Given the description of an element on the screen output the (x, y) to click on. 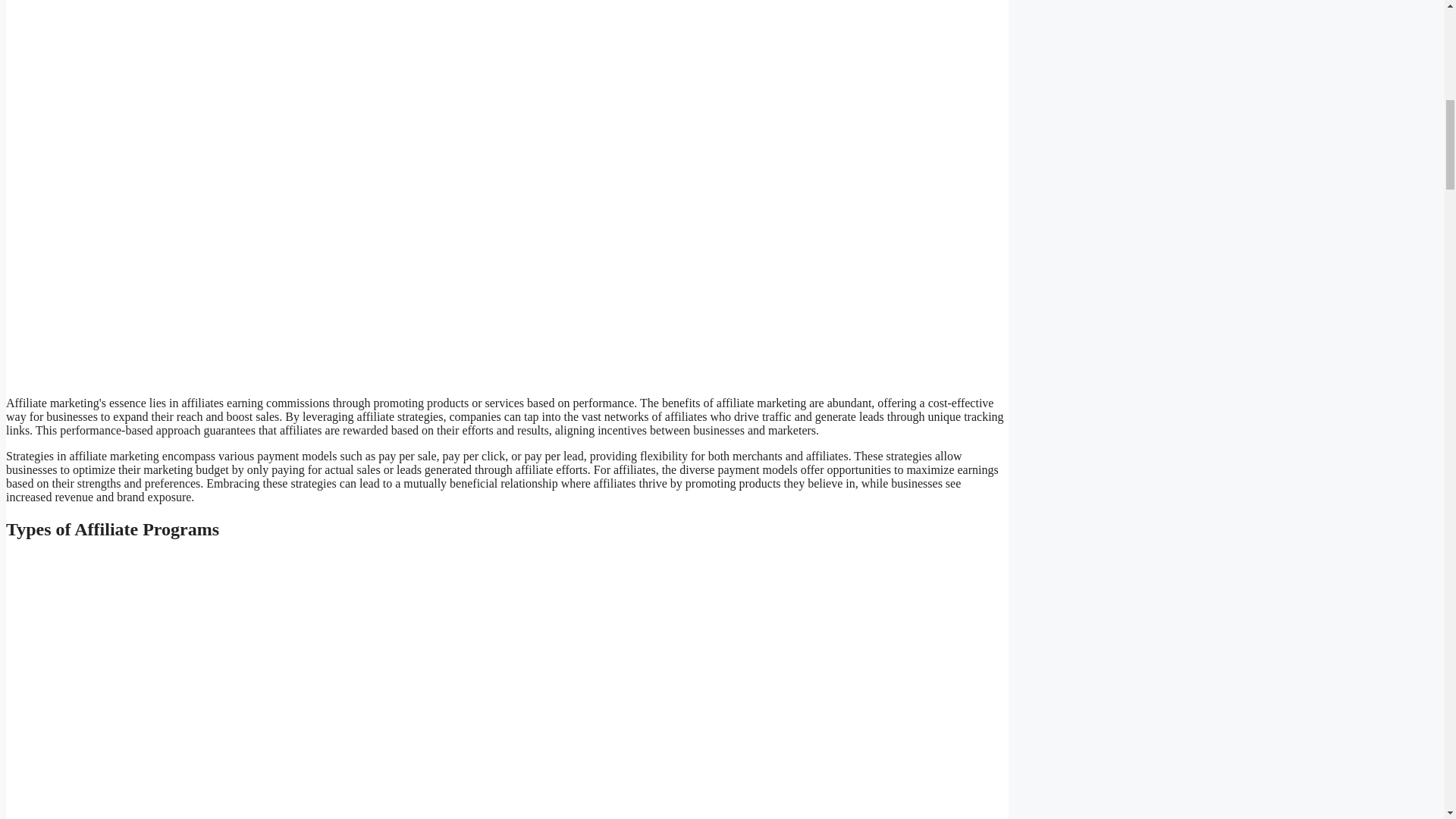
Scroll back to top (1406, 720)
